Given the description of an element on the screen output the (x, y) to click on. 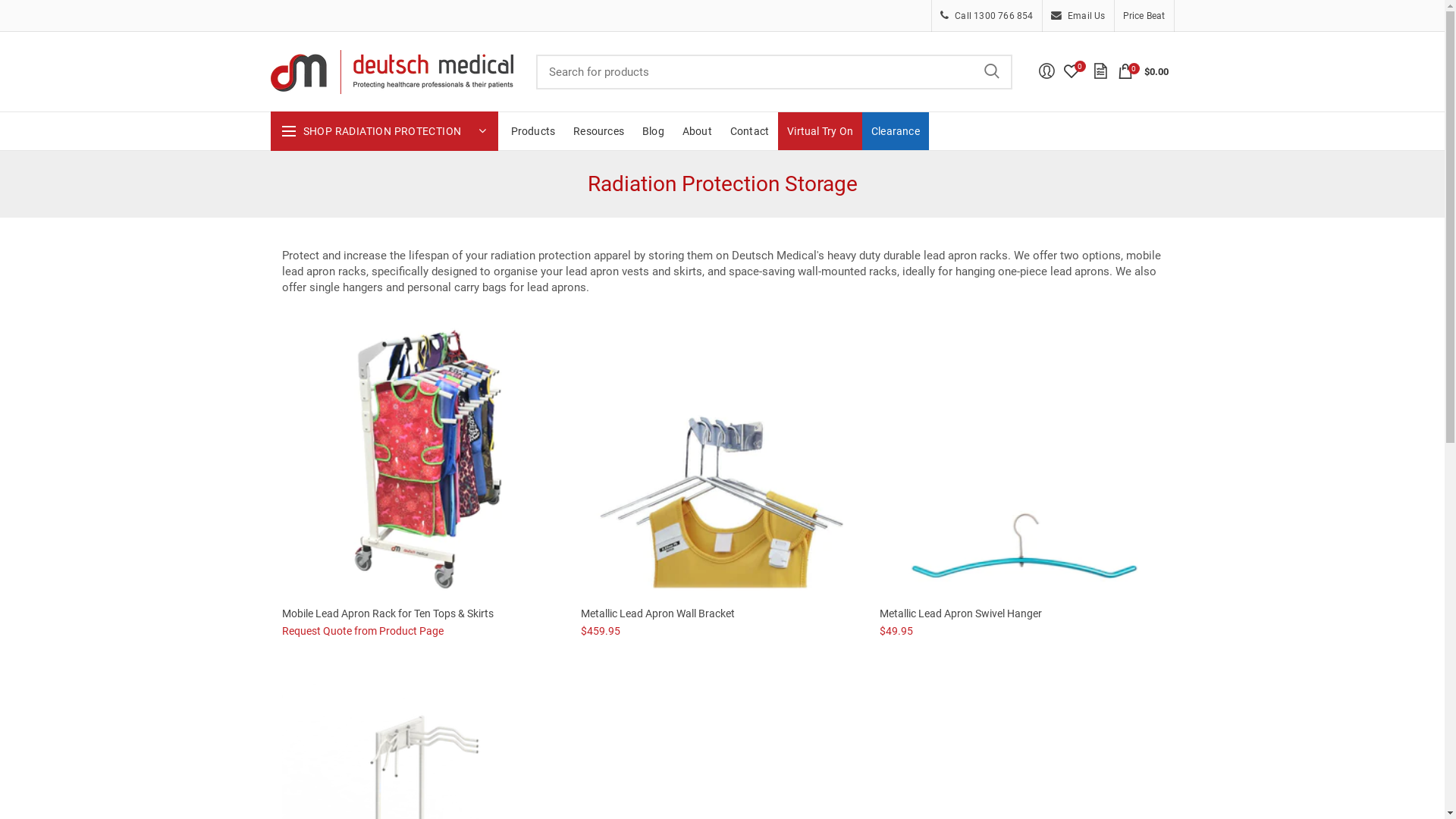
About Element type: text (697, 131)
Shopping Cart Element type: hover (1124, 70)
Metallic Lead Apron Wall Bracket Element type: text (722, 613)
Mobile Lead Apron Rack for Ten Tops & Skirts Element type: text (423, 613)
Price Beat Element type: text (1143, 15)
Contact Element type: text (749, 131)
Blog Element type: text (653, 131)
SEARCH Element type: text (991, 71)
0 Element type: text (1070, 71)
Resources Element type: text (598, 131)
Clearance Element type: text (895, 131)
Virtual Try On Element type: text (820, 131)
Metallic Lead Apron Swivel Hanger Element type: text (1021, 613)
Products Element type: text (533, 131)
Email Us Element type: text (1077, 15)
Call 1300 766 854 Element type: text (986, 15)
0
$0.00 Element type: text (1142, 71)
